Given the description of an element on the screen output the (x, y) to click on. 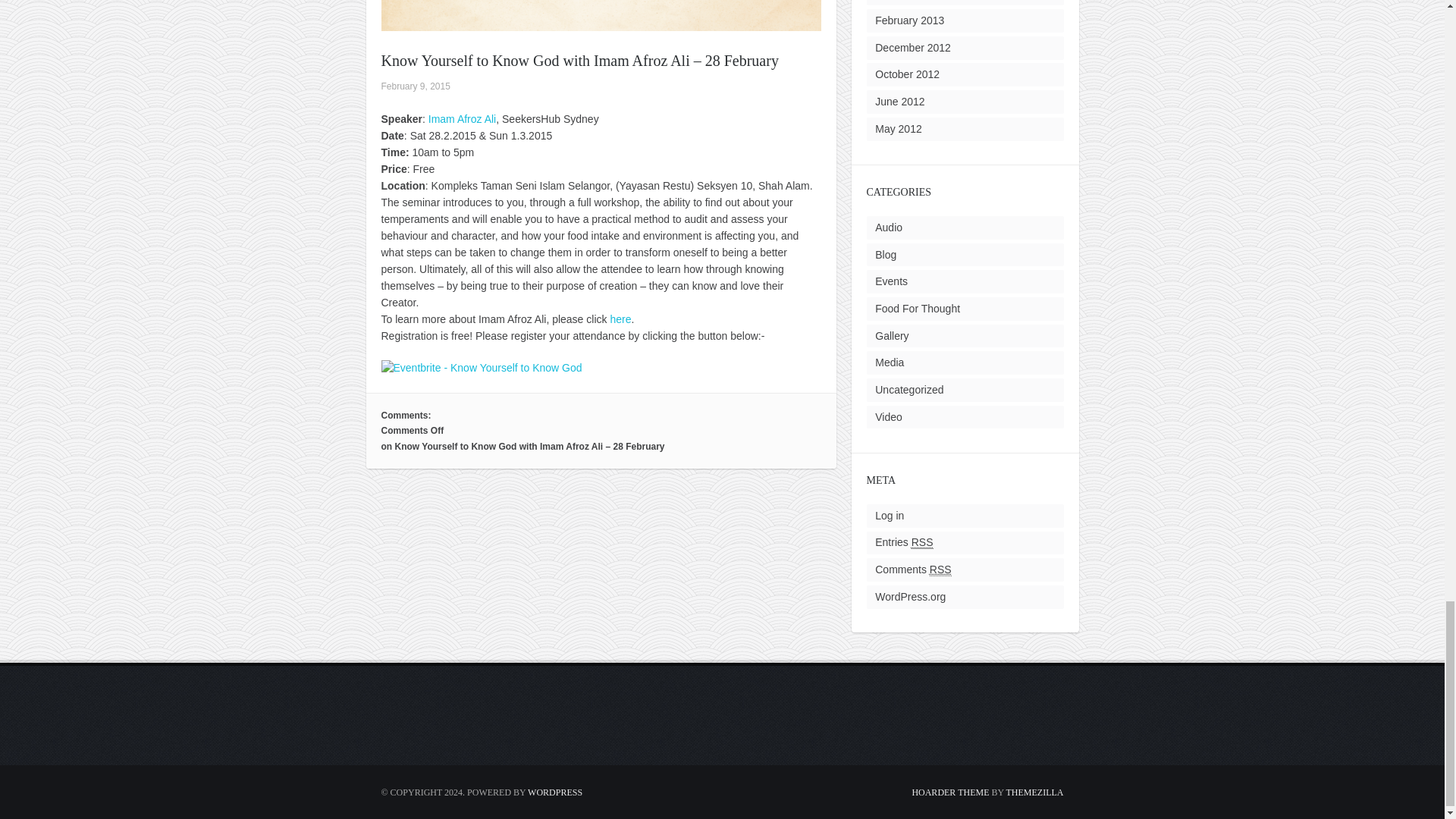
Really Simple Syndication (941, 569)
All events (891, 281)
Imam Afroz Ali (462, 119)
Daily dose (917, 308)
here (620, 318)
Really Simple Syndication (922, 542)
